Given the description of an element on the screen output the (x, y) to click on. 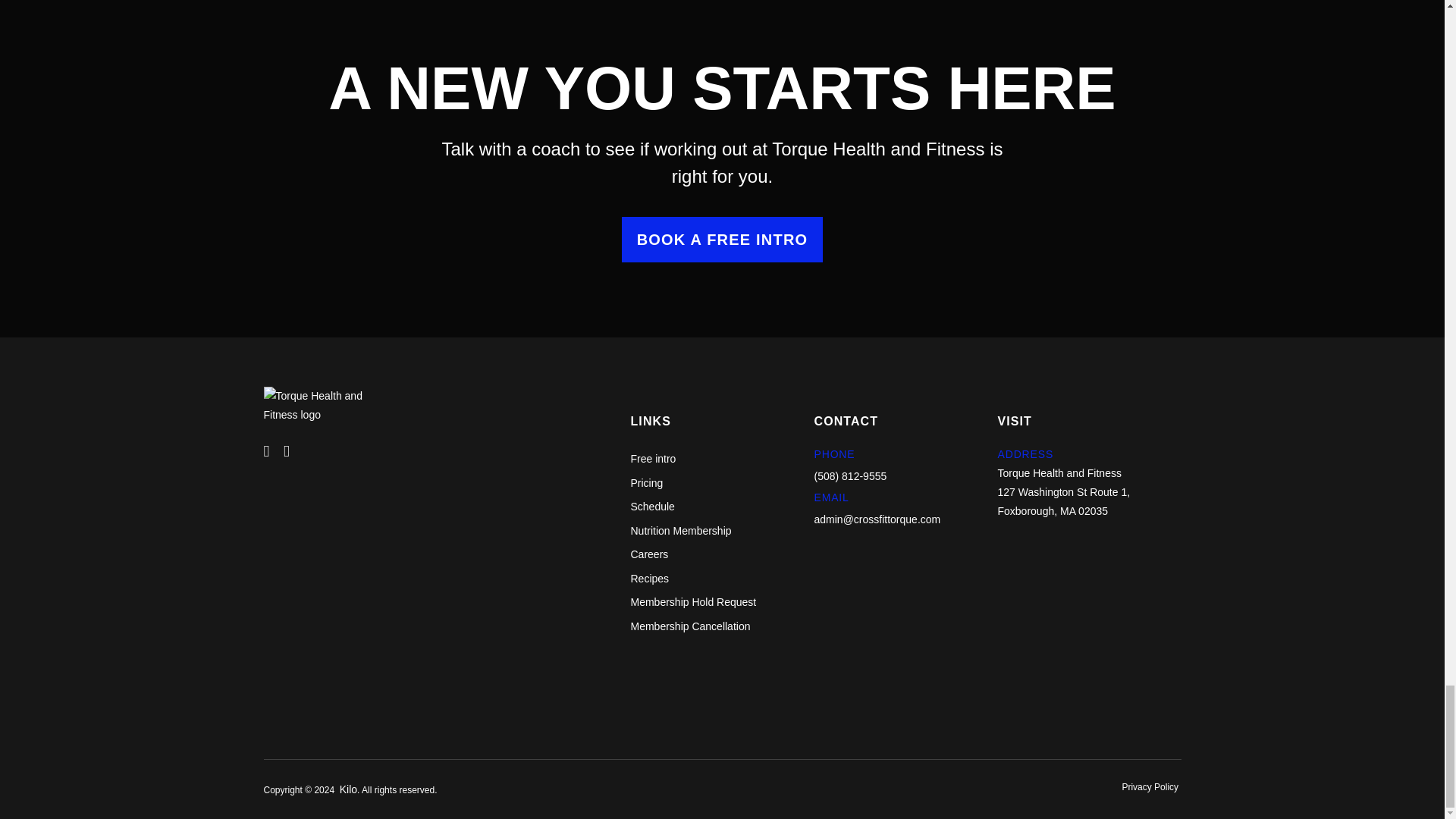
BOOK A FREE INTRO (722, 239)
